Given the description of an element on the screen output the (x, y) to click on. 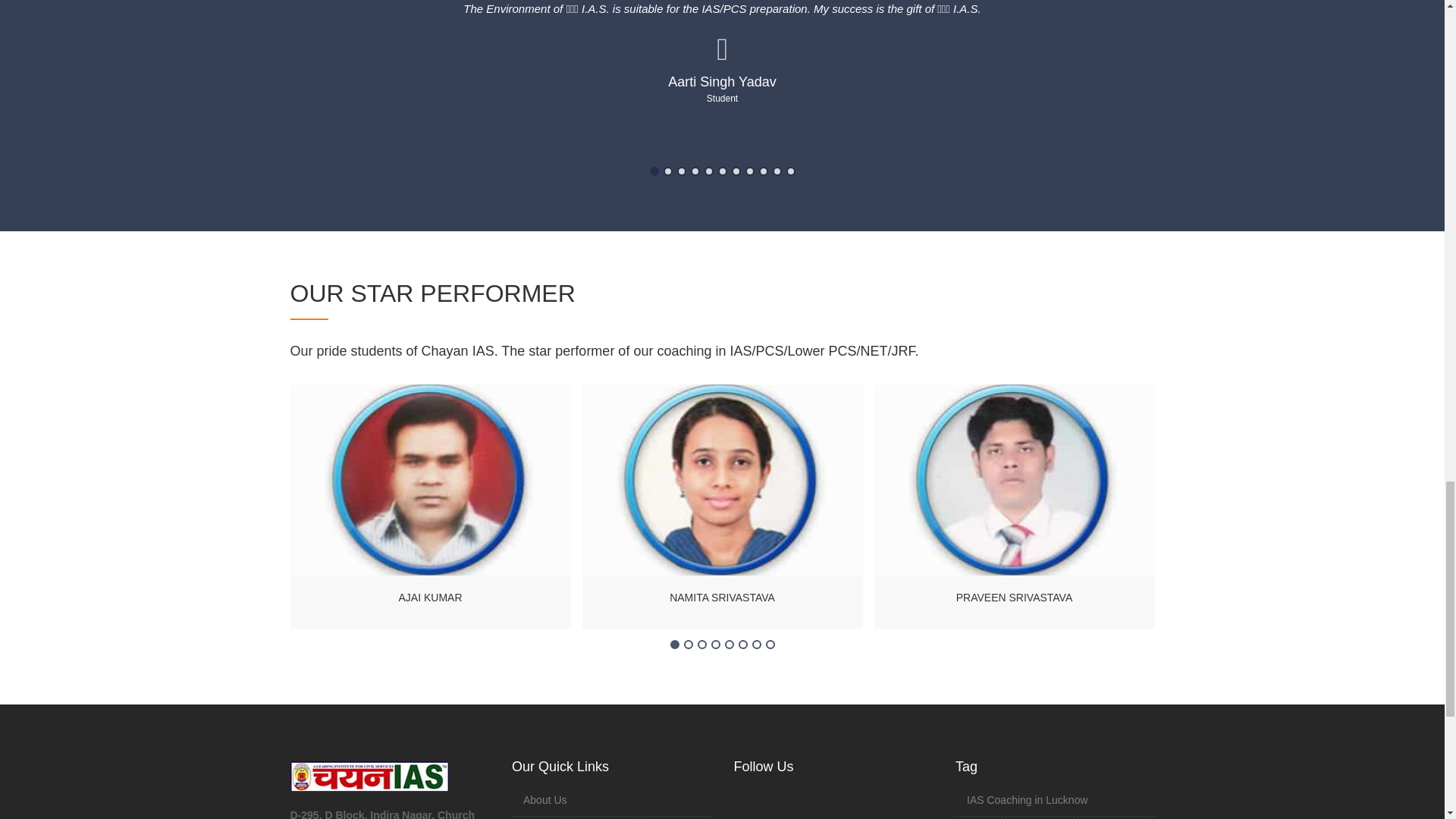
AJAI KUMAR (429, 598)
NAMITA SRIVASTAVA (721, 598)
PRAVEEN SRIVASTAVA (1013, 598)
